Given the description of an element on the screen output the (x, y) to click on. 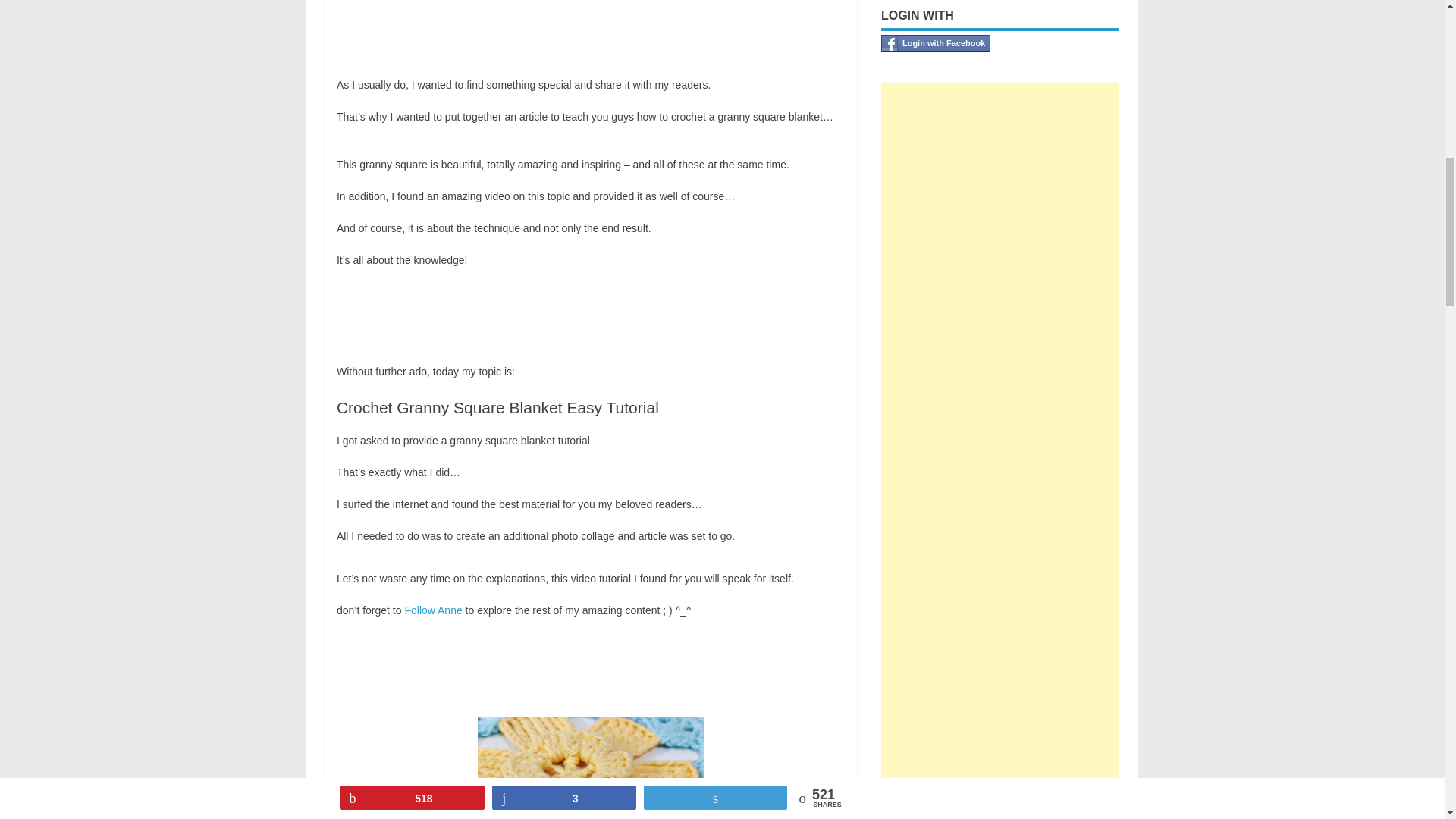
Login with Facebook (935, 43)
Follow Anne (434, 610)
